Given the description of an element on the screen output the (x, y) to click on. 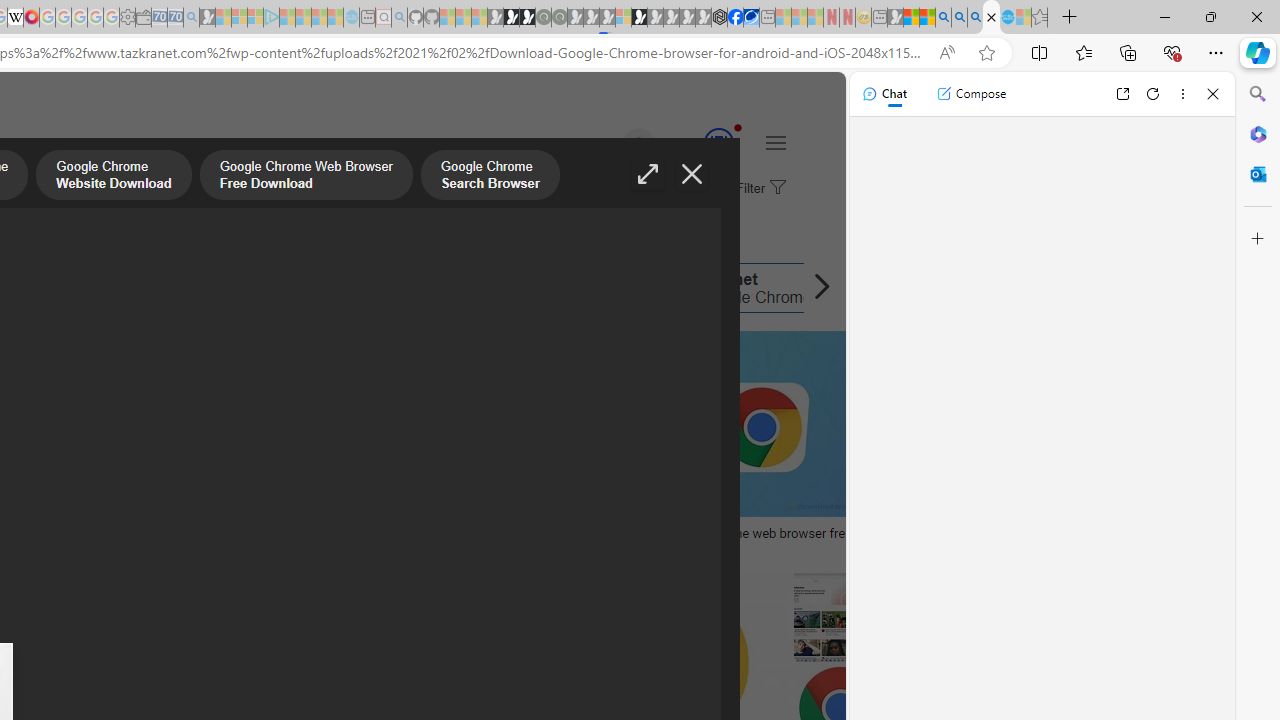
Google Chrome Internet Browser Download - Search Images (991, 17)
MSN - Sleeping (895, 17)
Google Chrome Fast Download (473, 287)
Full screen (648, 173)
Future Focus Report 2024 - Sleeping (559, 17)
Microsoft Rewards 84 (700, 143)
Internet Google Chrome (738, 287)
wizardsgase - Blog (204, 533)
